Given the description of an element on the screen output the (x, y) to click on. 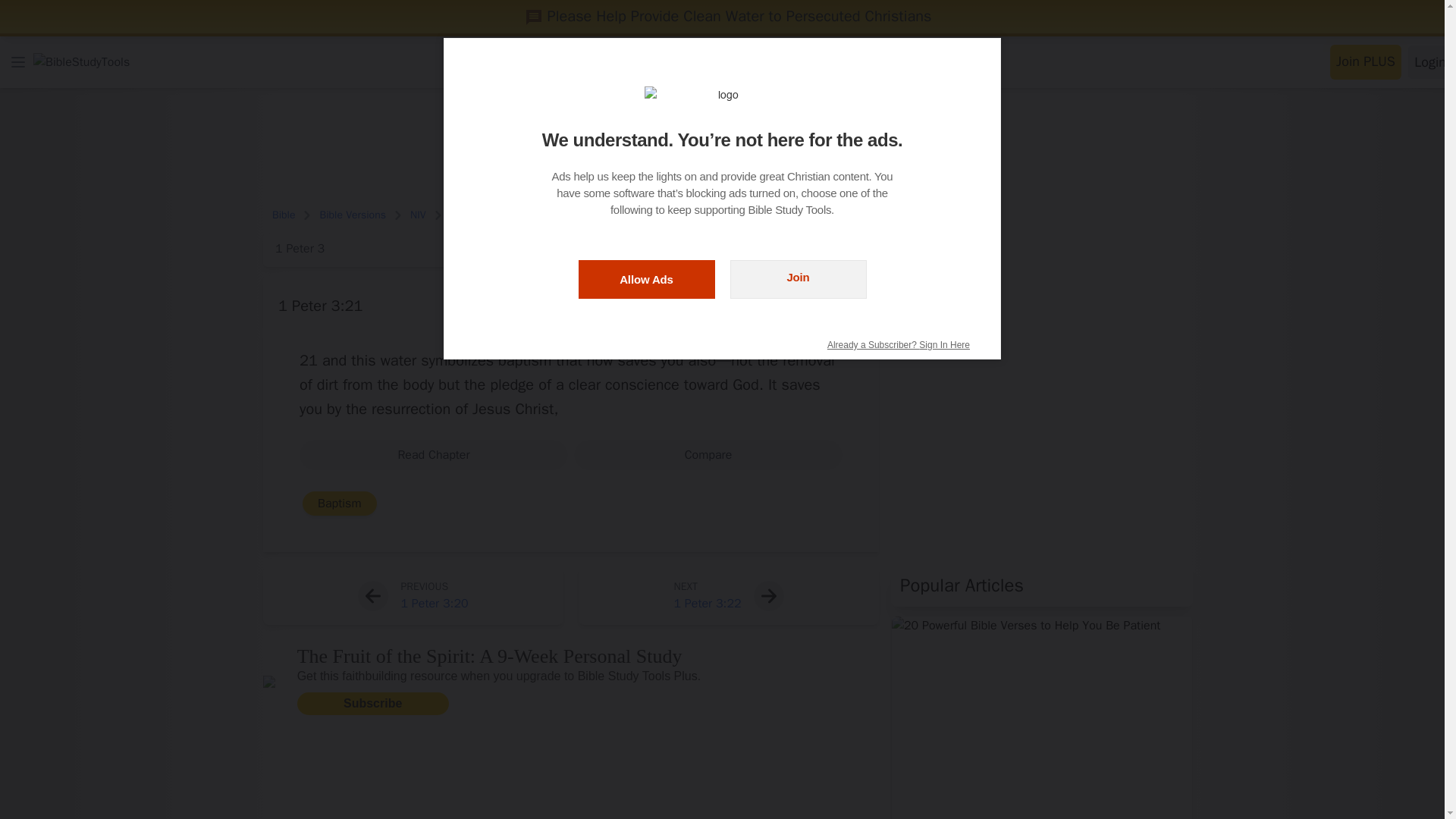
Login (1430, 62)
The Bible (889, 61)
Scripture Settings (847, 306)
View more verses about Baptism (339, 503)
Join PLUS (1365, 62)
Please Help Provide Clean Water to Persecuted Christians (727, 16)
